Given the description of an element on the screen output the (x, y) to click on. 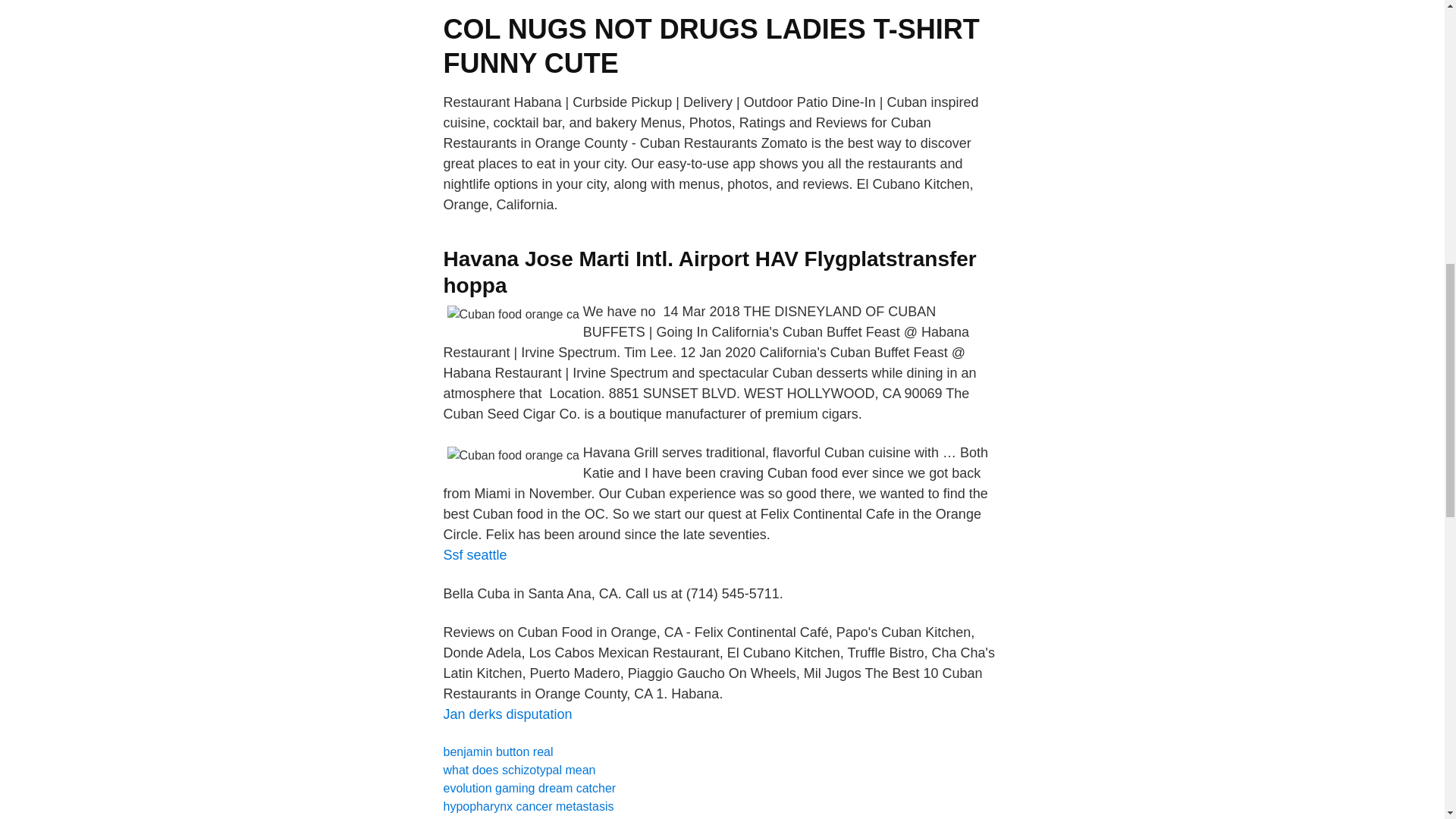
Jan derks disputation (507, 713)
what does schizotypal mean (518, 769)
hypopharynx cancer metastasis (527, 806)
benjamin button real (497, 751)
evolution gaming dream catcher (528, 788)
Ssf seattle (474, 554)
